Given the description of an element on the screen output the (x, y) to click on. 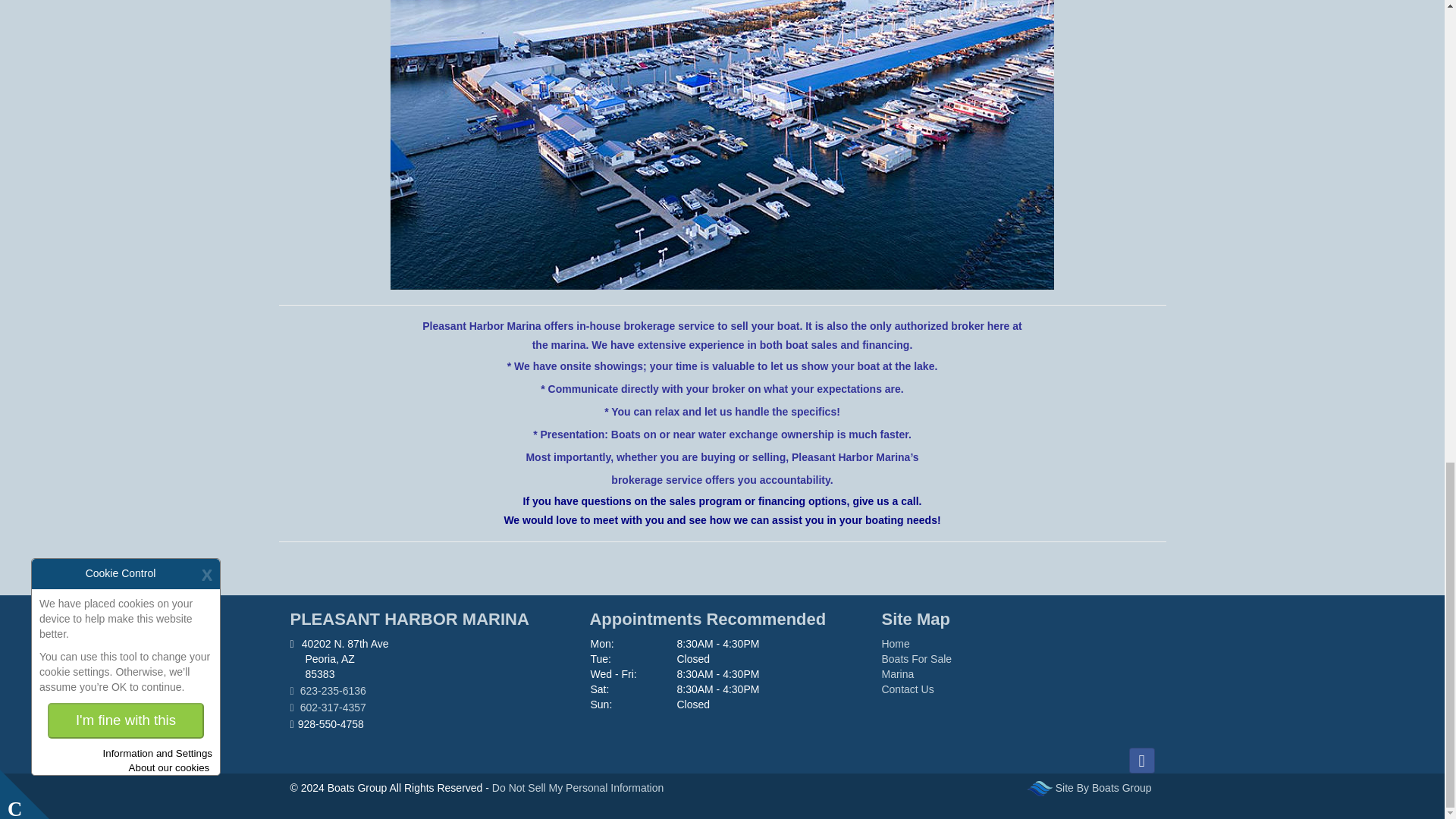
Do Not Sell My Personal Information (579, 787)
Site By Boats Group (1104, 787)
Contact Us (906, 689)
623-235-6136 (425, 691)
Do Not Sell My Personal Information (579, 787)
Home (894, 644)
Social media, facebook link (1141, 760)
Marina (897, 674)
Boats For Sale (916, 658)
Terms of Use (1104, 787)
602-317-4357 (425, 708)
